Given the description of an element on the screen output the (x, y) to click on. 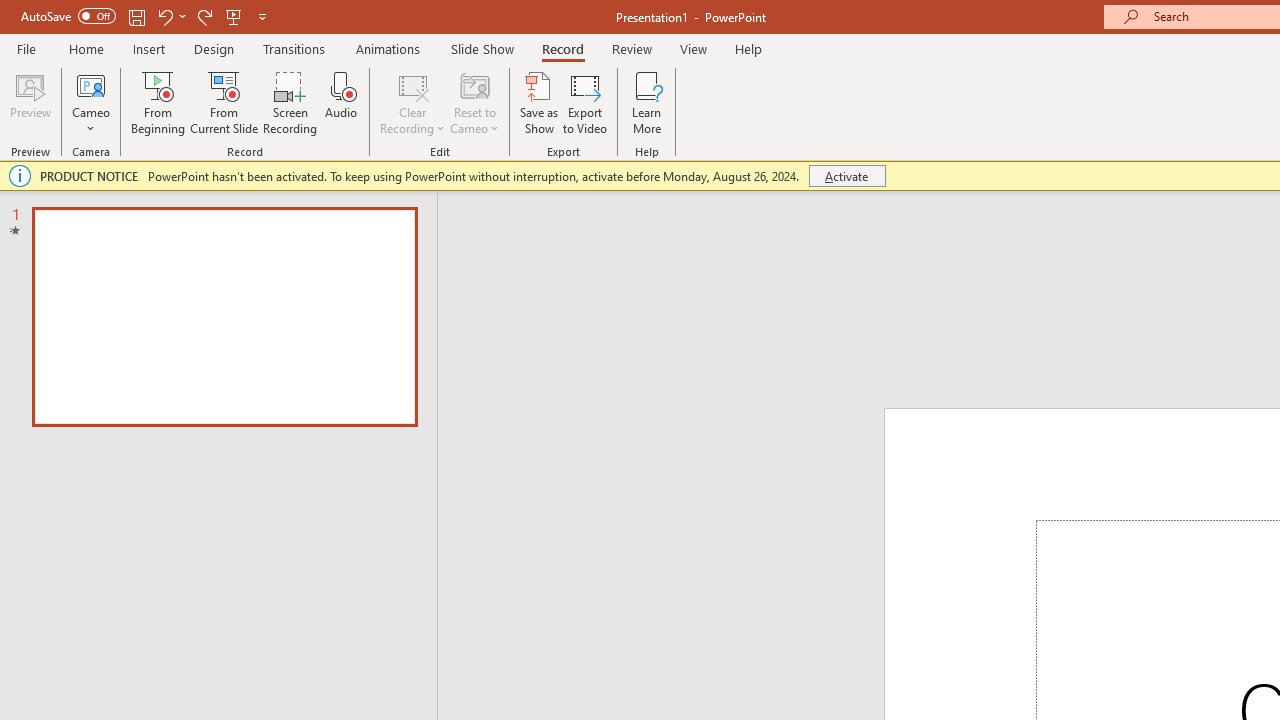
Activate (846, 175)
